Given the description of an element on the screen output the (x, y) to click on. 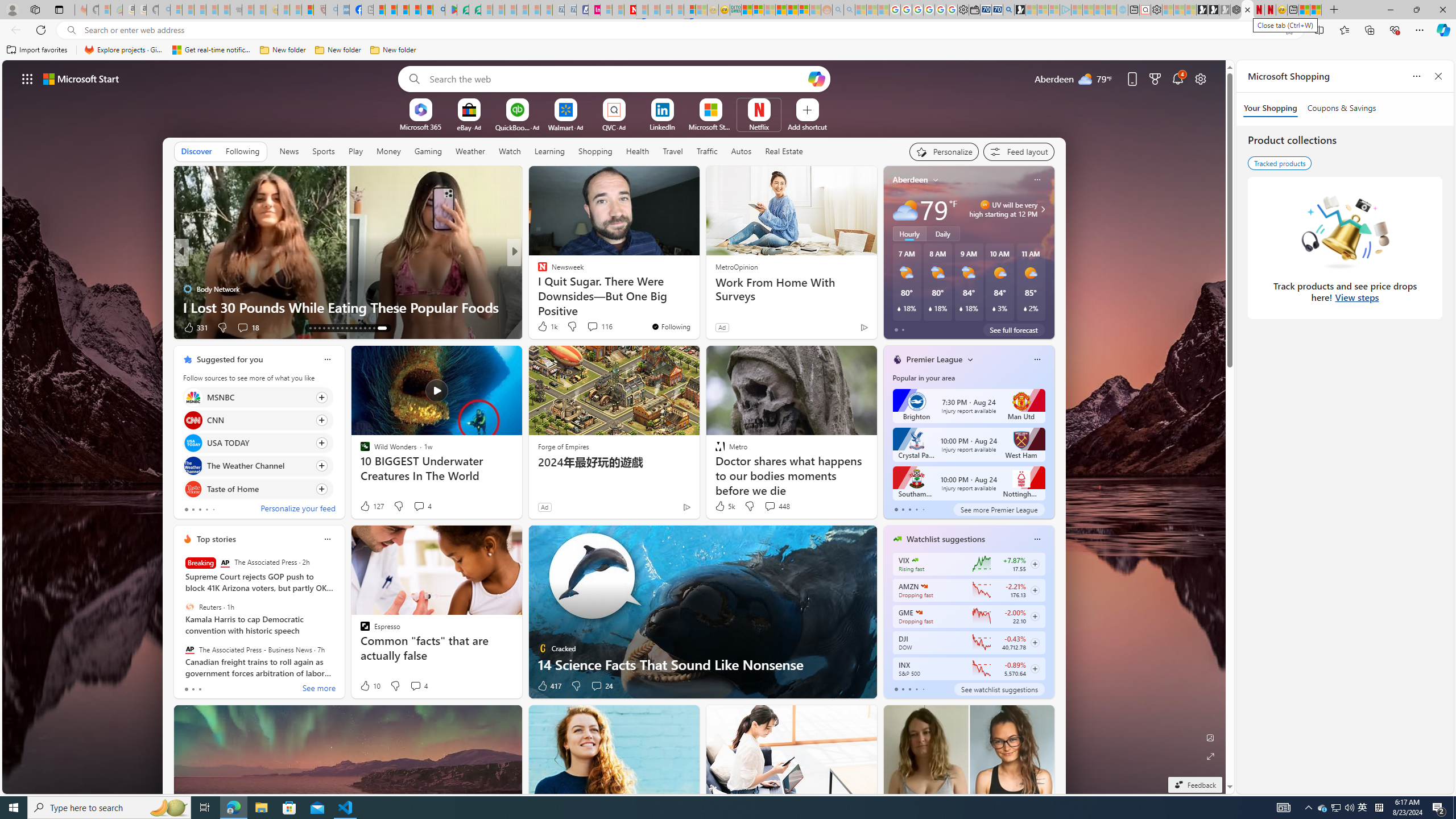
You're following Newsweek (670, 326)
See more Premier League (998, 509)
The Associated Press (224, 563)
Class: weather-current-precipitation-glyph (1024, 308)
AutomationID: tab-24 (360, 328)
